Given the description of an element on the screen output the (x, y) to click on. 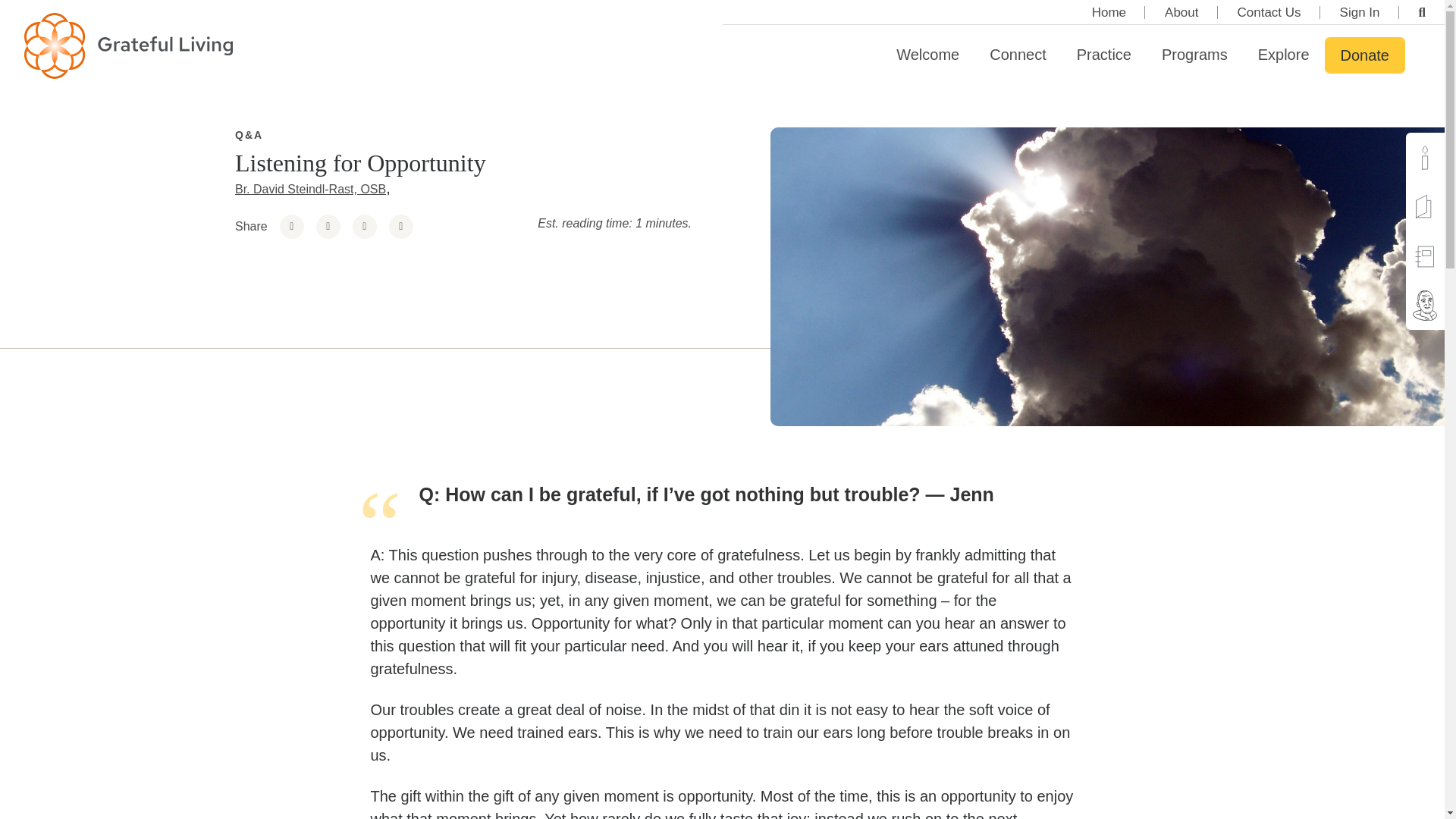
Share on Facebook (291, 226)
Share via Email (400, 226)
Connect (1017, 54)
Contact Us (1269, 11)
Practice (1104, 54)
Home (1109, 11)
Br. David Steindl-Rast, OSB (309, 188)
About (1181, 11)
Practice (1104, 54)
Programs (1195, 54)
